Given the description of an element on the screen output the (x, y) to click on. 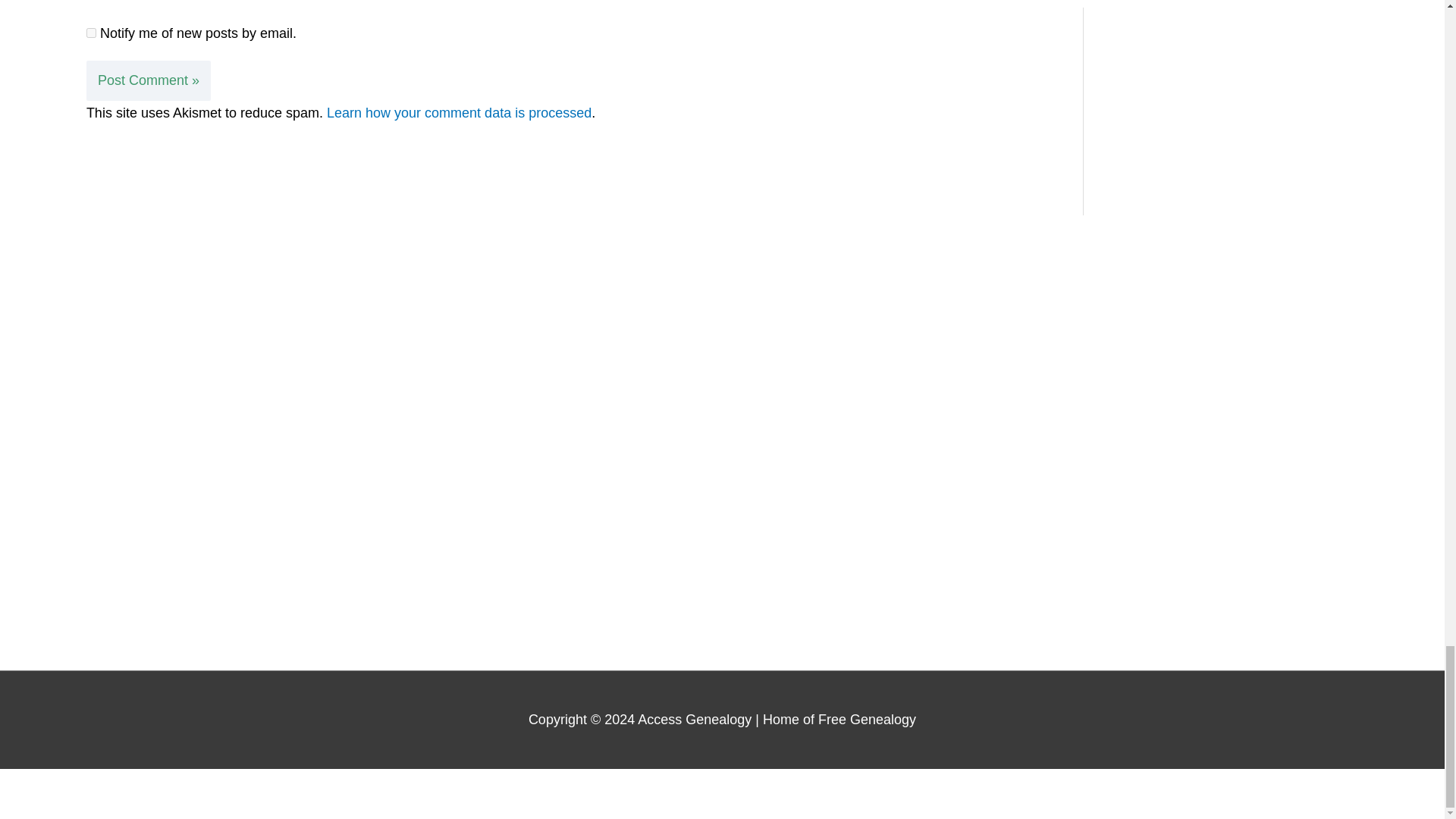
Learn how your comment data is processed (458, 112)
subscribe (90, 32)
